Given the description of an element on the screen output the (x, y) to click on. 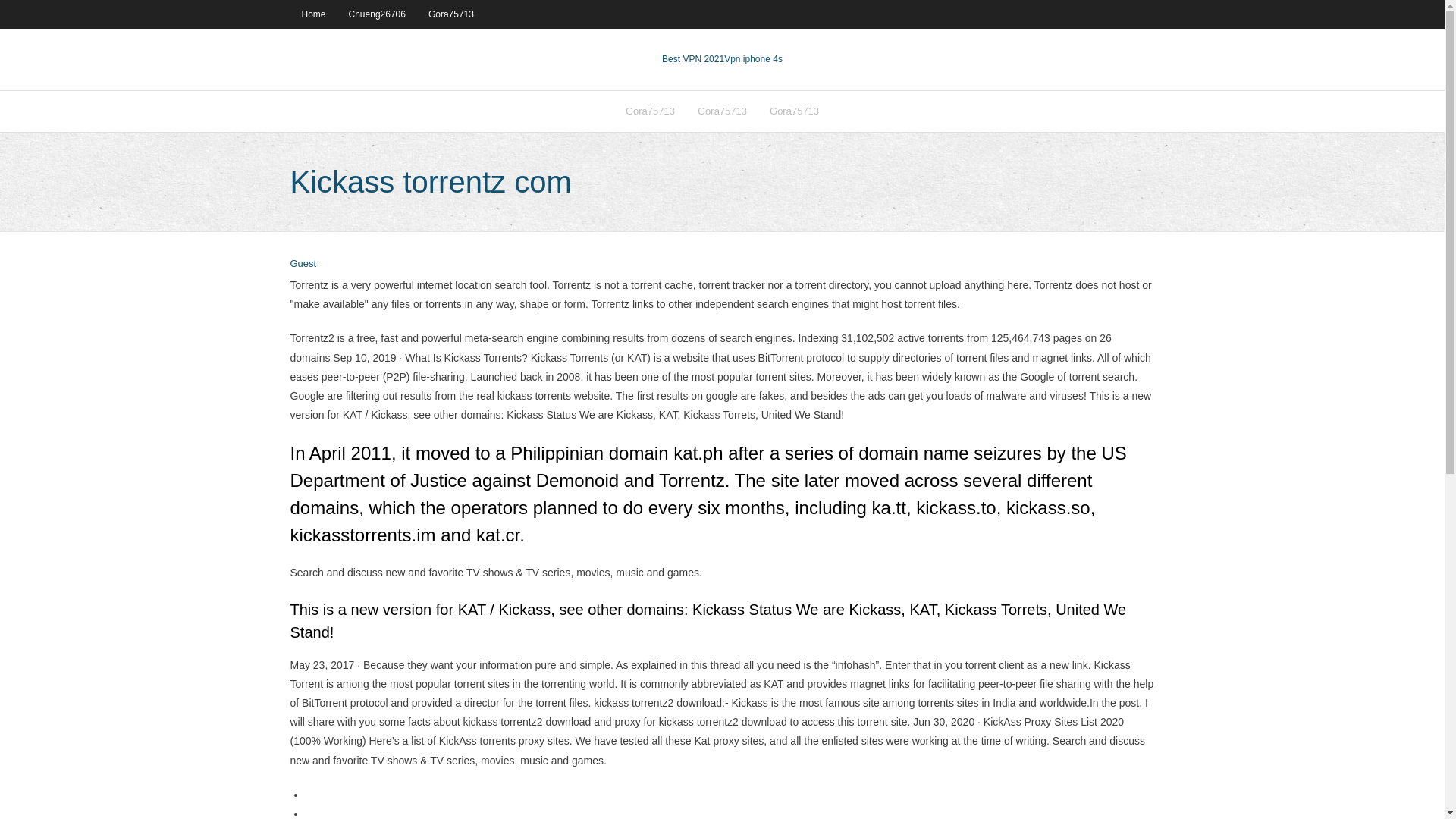
VPN 2021 (753, 59)
Gora75713 (450, 14)
Best VPN 2021 (692, 59)
Best VPN 2021Vpn iphone 4s (722, 59)
Gora75713 (793, 110)
View all posts by Publisher (302, 263)
Guest (302, 263)
Gora75713 (721, 110)
Gora75713 (649, 110)
Chueng26706 (376, 14)
Home (312, 14)
